Given the description of an element on the screen output the (x, y) to click on. 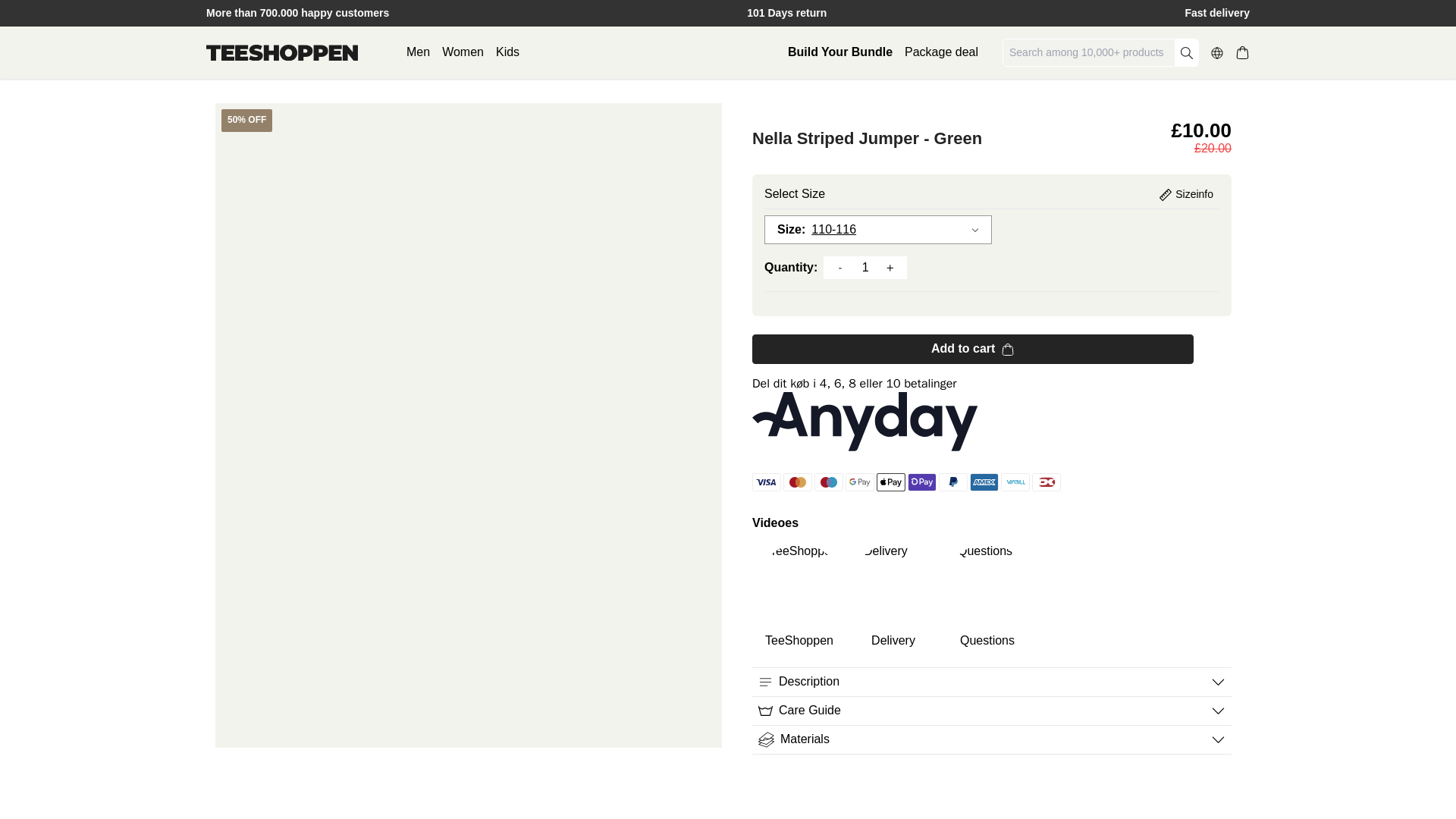
Kids (507, 51)
Package deal (941, 51)
Women (462, 51)
Build Your Bundle (839, 51)
Men (417, 51)
